Given the description of an element on the screen output the (x, y) to click on. 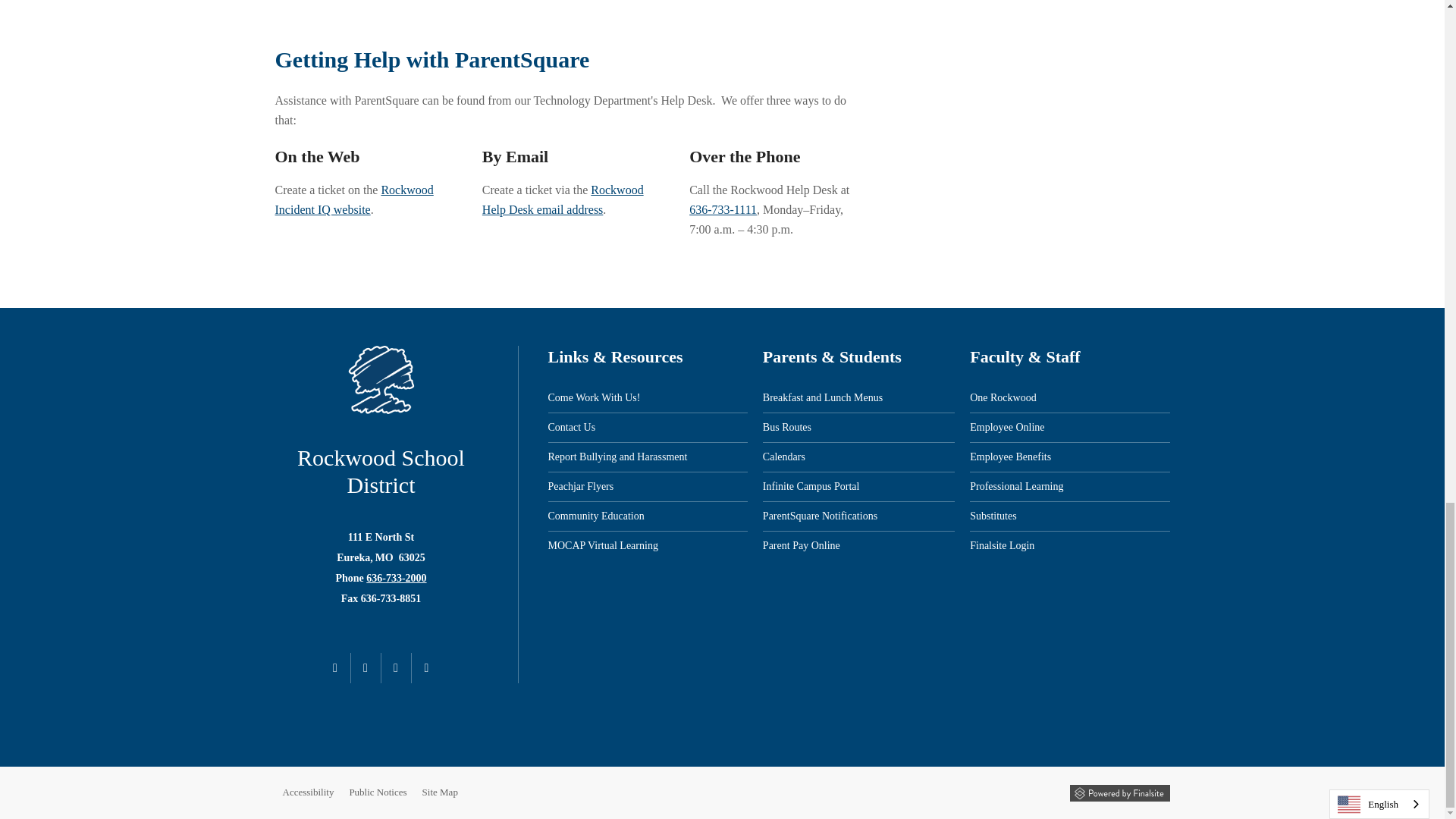
Powered by Finalsite opens in a new window (1118, 792)
